Given the description of an element on the screen output the (x, y) to click on. 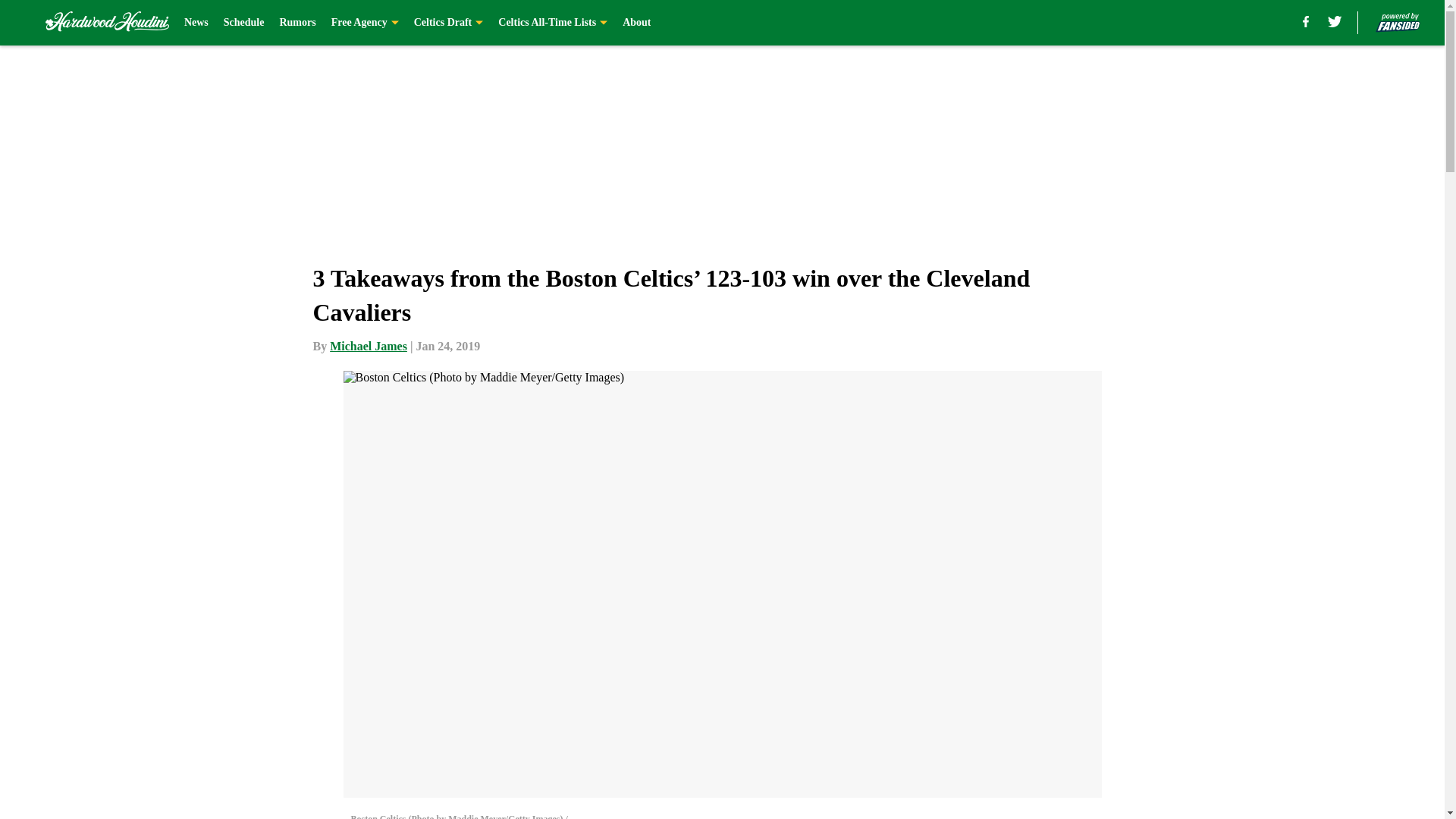
Celtics Draft (448, 22)
Free Agency (364, 22)
About (636, 22)
Schedule (244, 22)
Michael James (368, 345)
News (196, 22)
Celtics All-Time Lists (552, 22)
Rumors (297, 22)
